Given the description of an element on the screen output the (x, y) to click on. 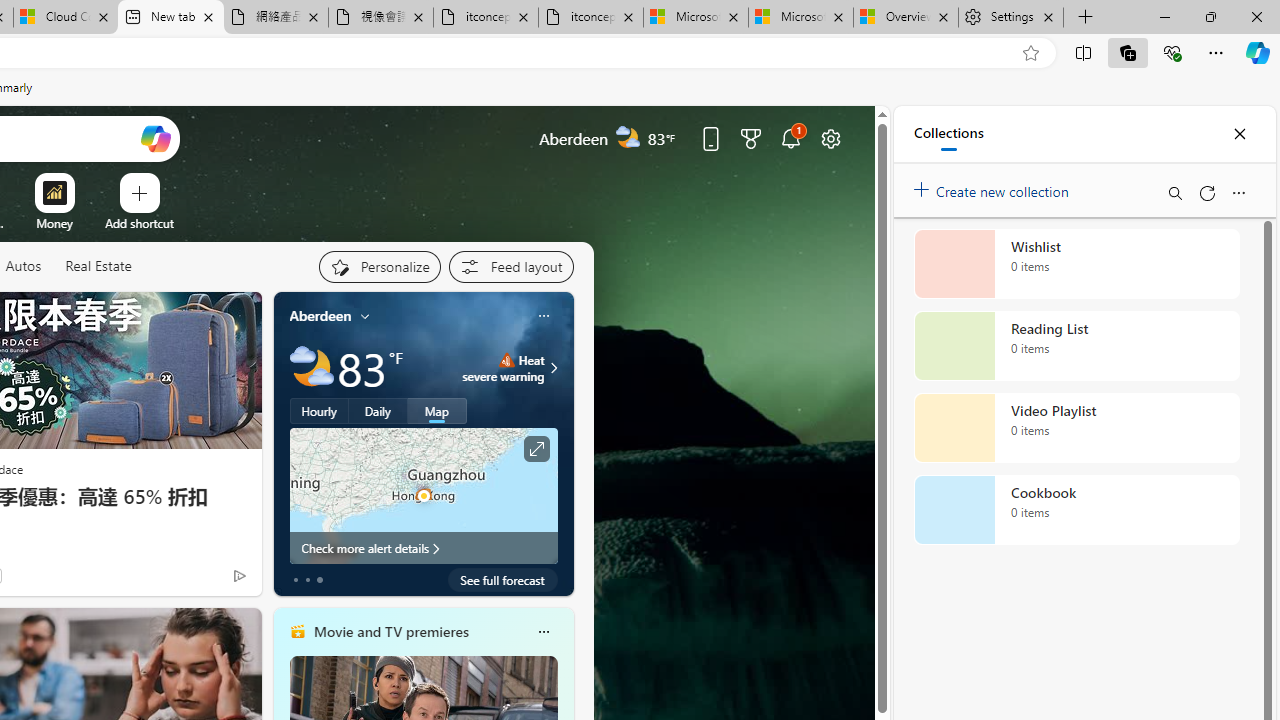
Add a site (139, 223)
itconcepthk.com/projector_solutions.mp4 (590, 17)
Personalize your feed" (379, 266)
Real Estate (97, 267)
Partly cloudy (311, 368)
You're following The Weather Channel (197, 579)
Video Playlist collection, 0 items (1076, 427)
